Given the description of an element on the screen output the (x, y) to click on. 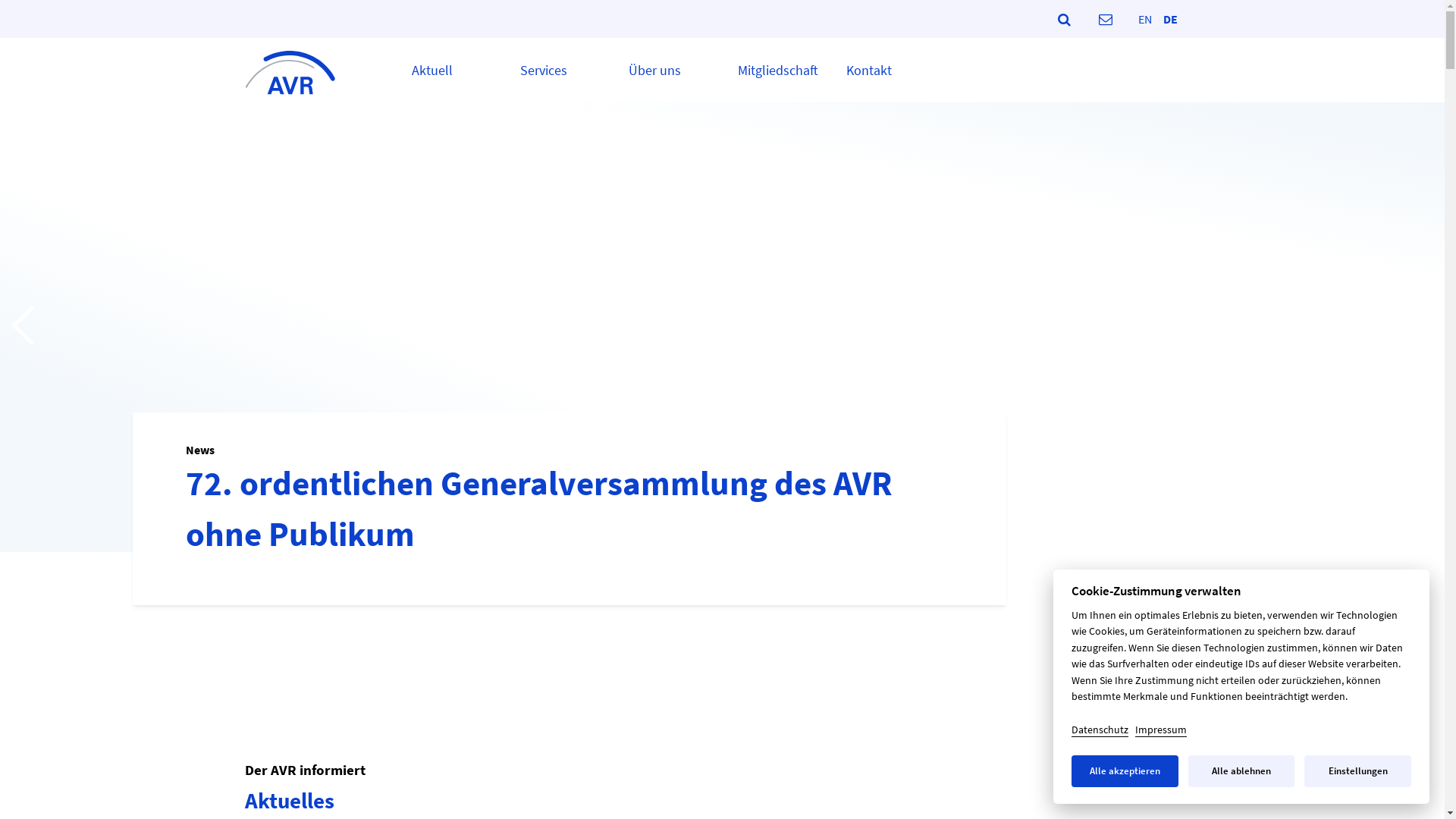
Datenschutz Element type: text (1099, 729)
EN Element type: text (1144, 17)
Kontakt Element type: text (868, 70)
Einstellungen Element type: text (1357, 771)
Alle akzeptieren Element type: text (1124, 771)
Services Element type: text (543, 70)
Impressum Element type: text (1160, 729)
Aktuell Element type: text (431, 70)
Mitgliedschaft Element type: text (777, 70)
DE Element type: text (1170, 17)
Alle ablehnen Element type: text (1241, 771)
